Given the description of an element on the screen output the (x, y) to click on. 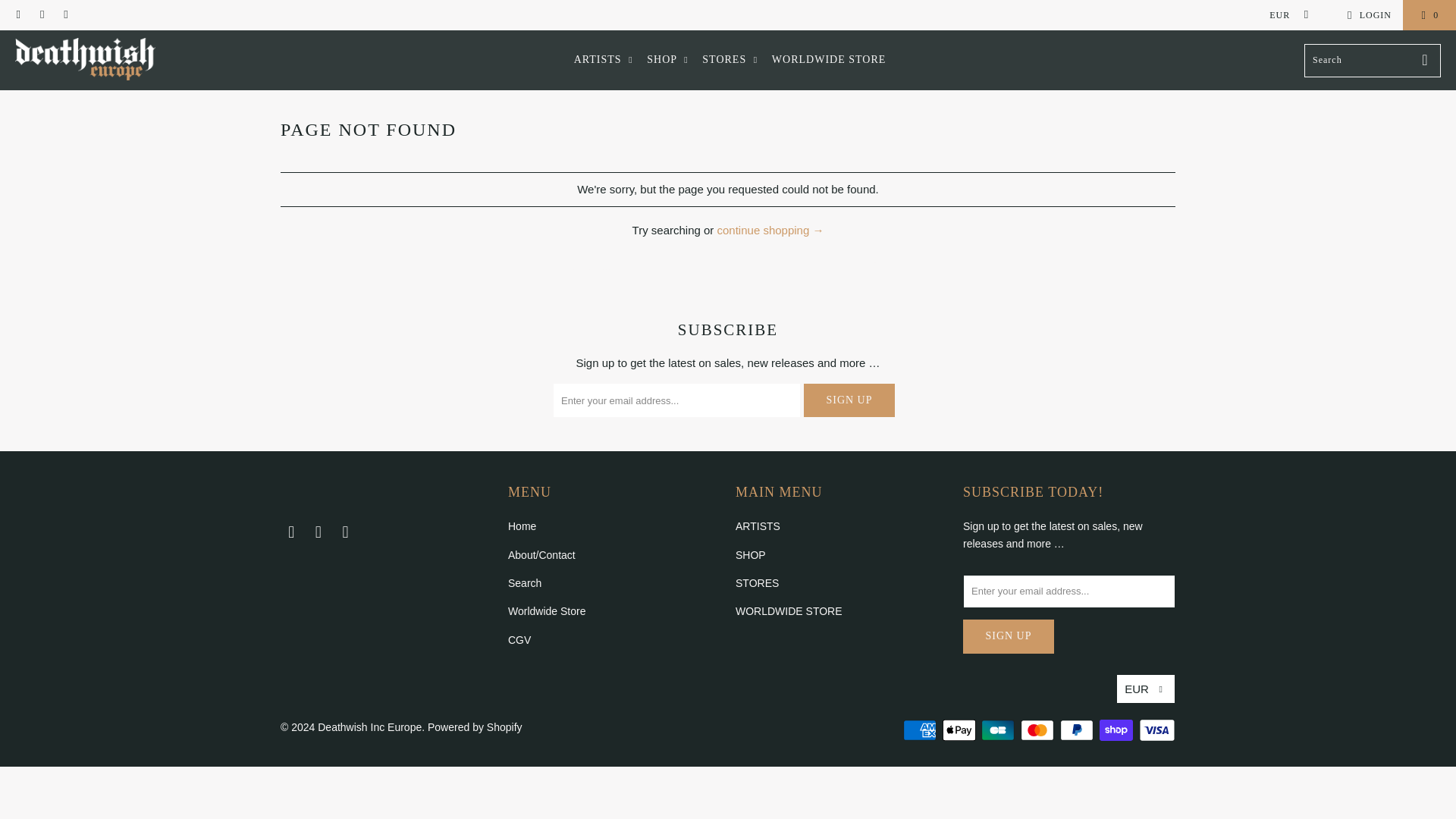
Deathwish Inc Europe on Twitter (17, 14)
Cartes Bancaires (999, 730)
Shop Pay (1117, 730)
Deathwish Inc Europe (84, 59)
My Account  (1366, 14)
Mastercard (1038, 730)
Apple Pay (960, 730)
Deathwish Inc Europe on Instagram (345, 532)
Deathwish Inc Europe on Twitter (291, 532)
Sign Up (849, 400)
